Given the description of an element on the screen output the (x, y) to click on. 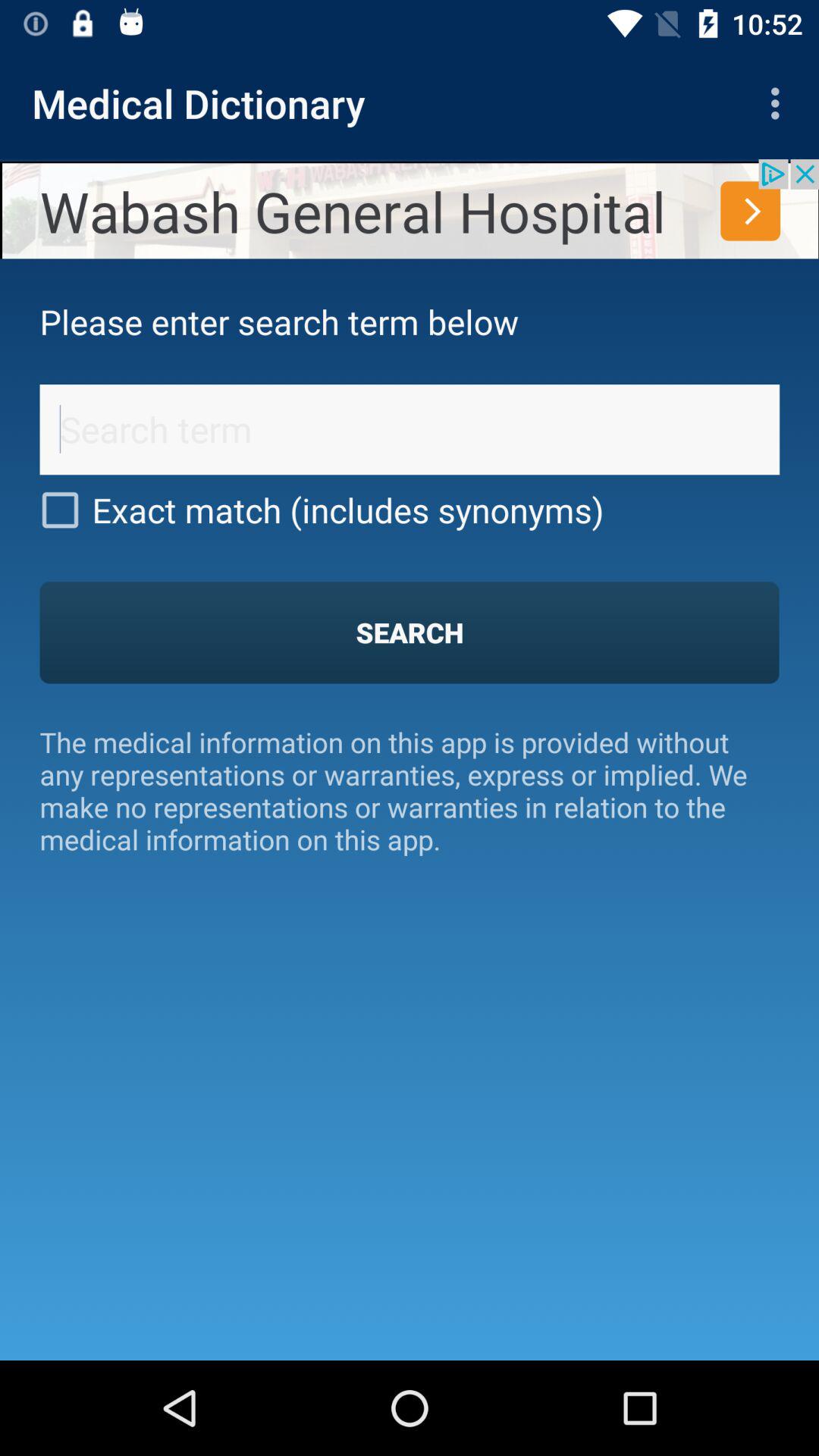
type search term (409, 429)
